Given the description of an element on the screen output the (x, y) to click on. 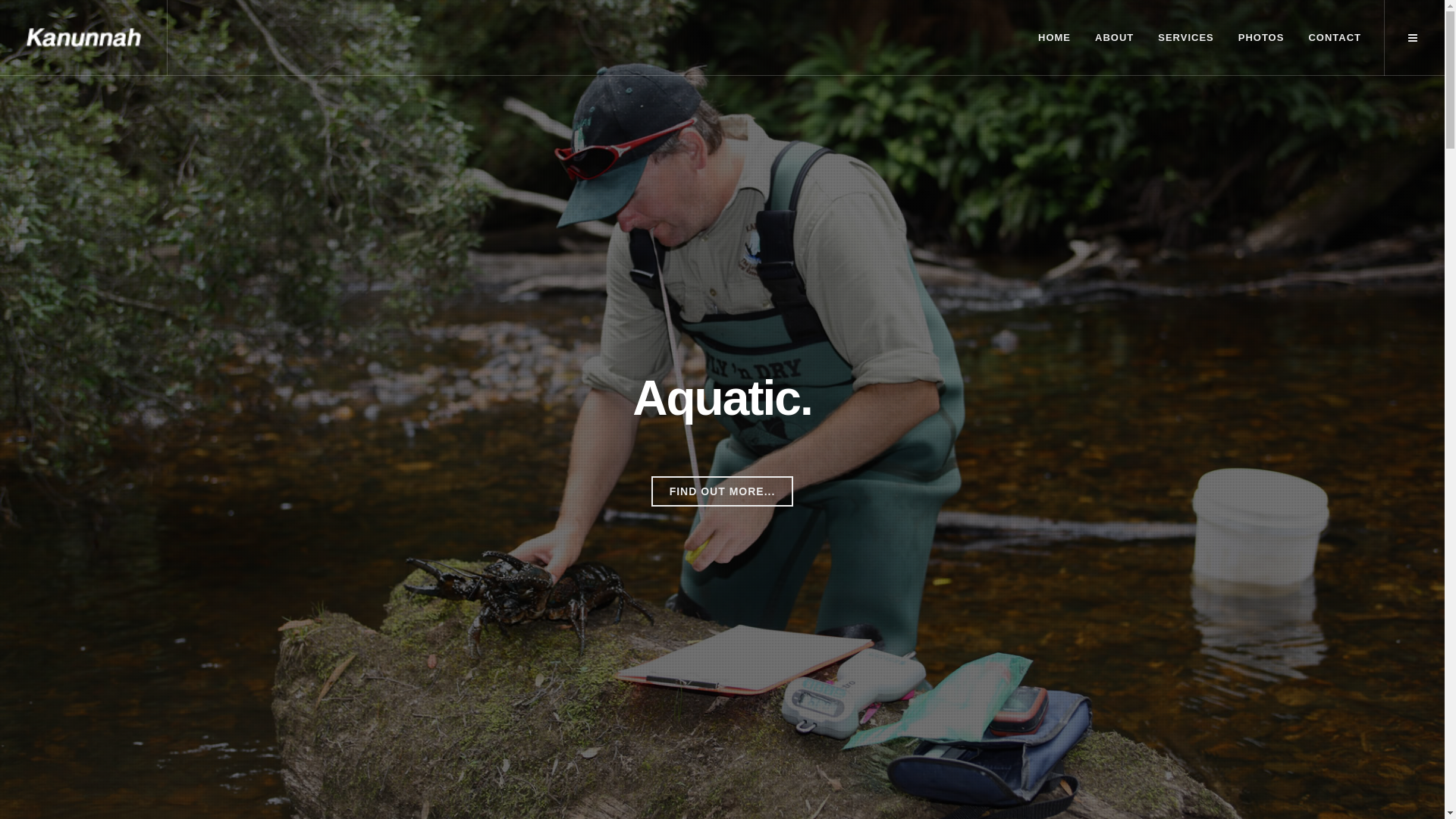
ABOUT Element type: text (1114, 37)
CONTACT Element type: text (1334, 37)
FIND OUT MORE... Element type: text (722, 491)
PHOTOS Element type: text (1260, 37)
SERVICES Element type: text (1185, 37)
HOME Element type: text (1054, 37)
